Given the description of an element on the screen output the (x, y) to click on. 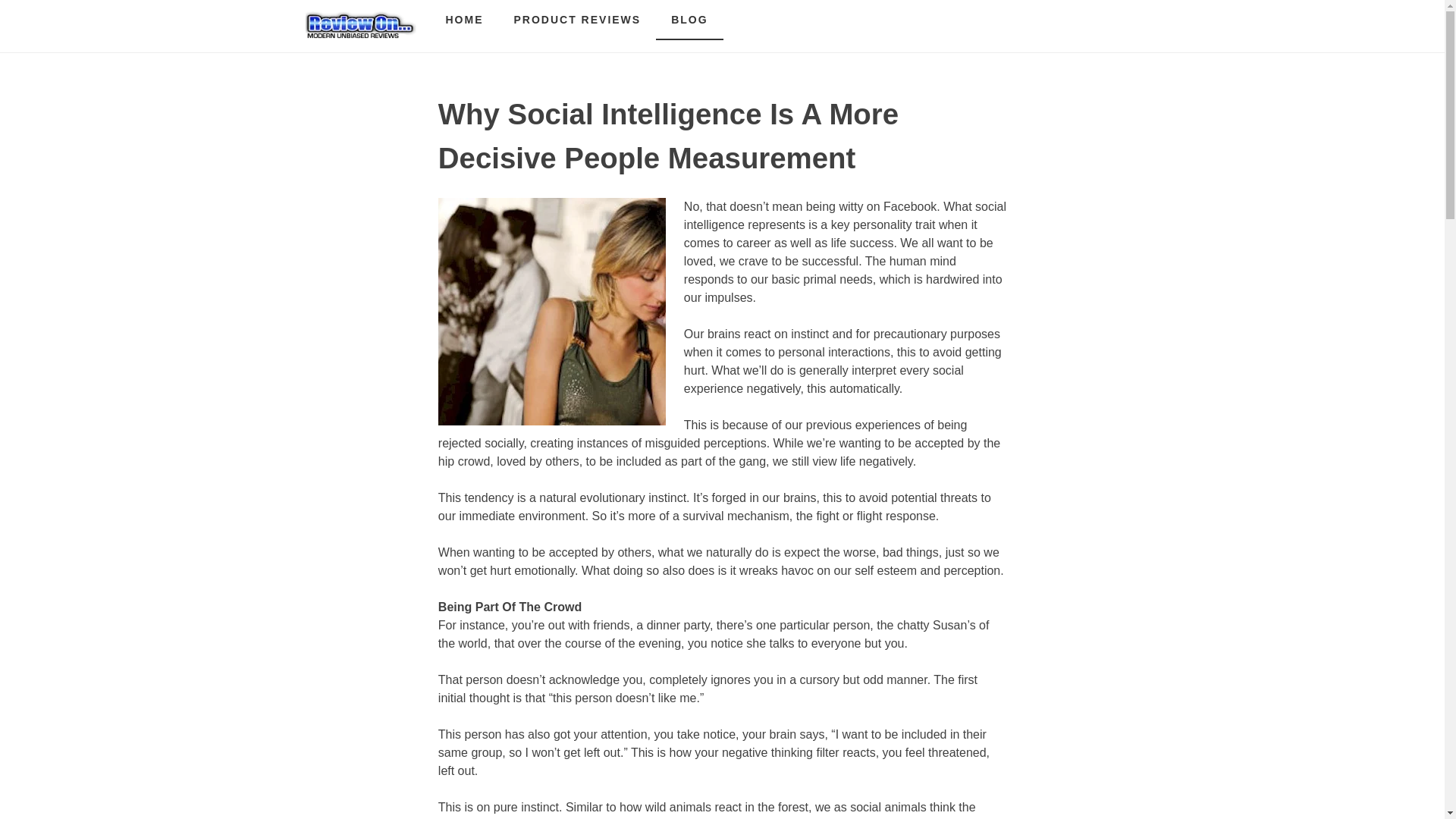
BLOG (689, 20)
HOME (464, 20)
PRODUCT REVIEWS (577, 20)
